Given the description of an element on the screen output the (x, y) to click on. 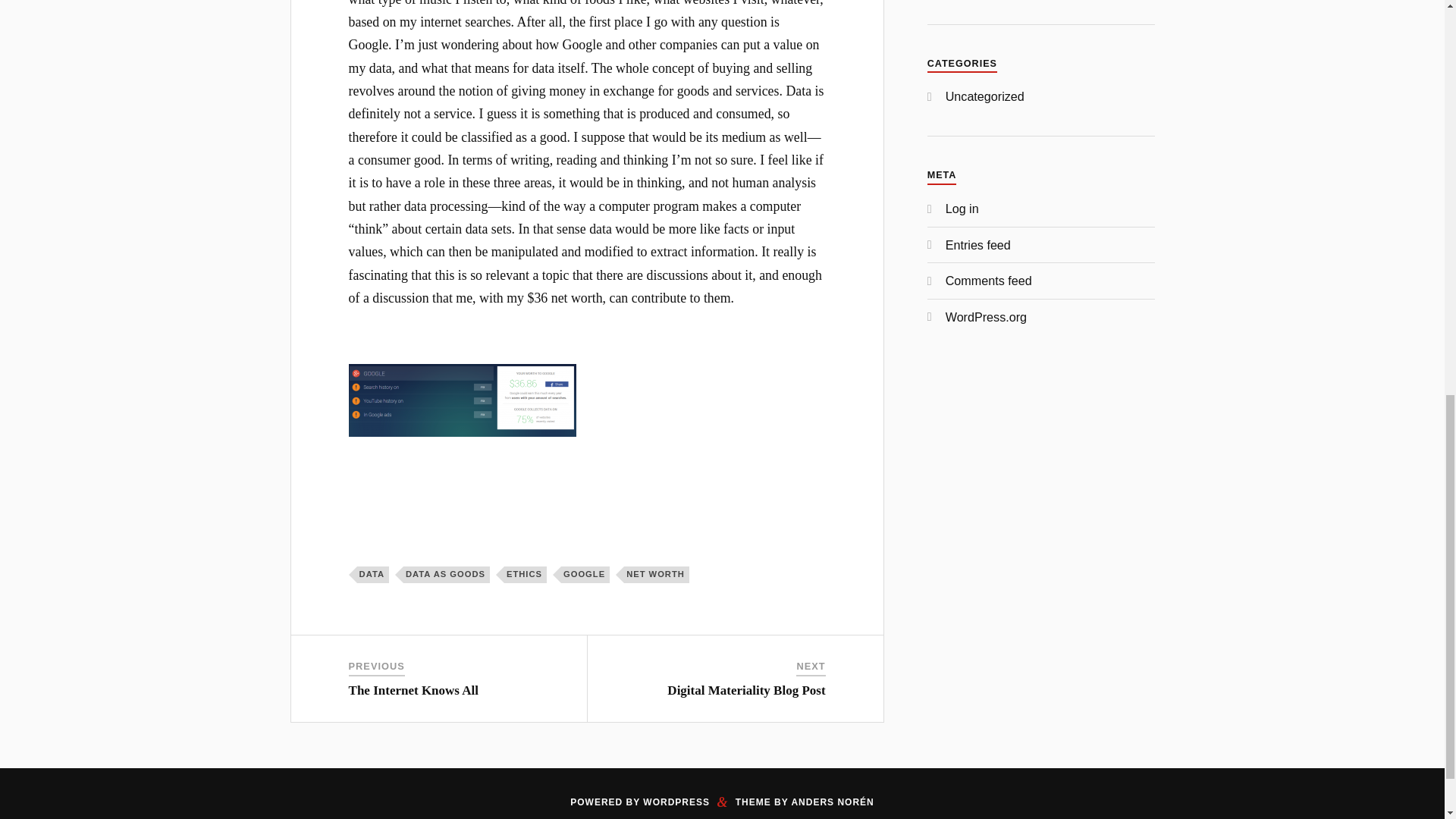
GOOGLE (585, 574)
Entries feed (977, 244)
The Internet Knows All (414, 690)
DATA AS GOODS (446, 574)
ETHICS (525, 574)
Uncategorized (984, 96)
WORDPRESS (676, 801)
Log in (961, 208)
DATA (372, 574)
Digital Materiality Blog Post (745, 690)
